Given the description of an element on the screen output the (x, y) to click on. 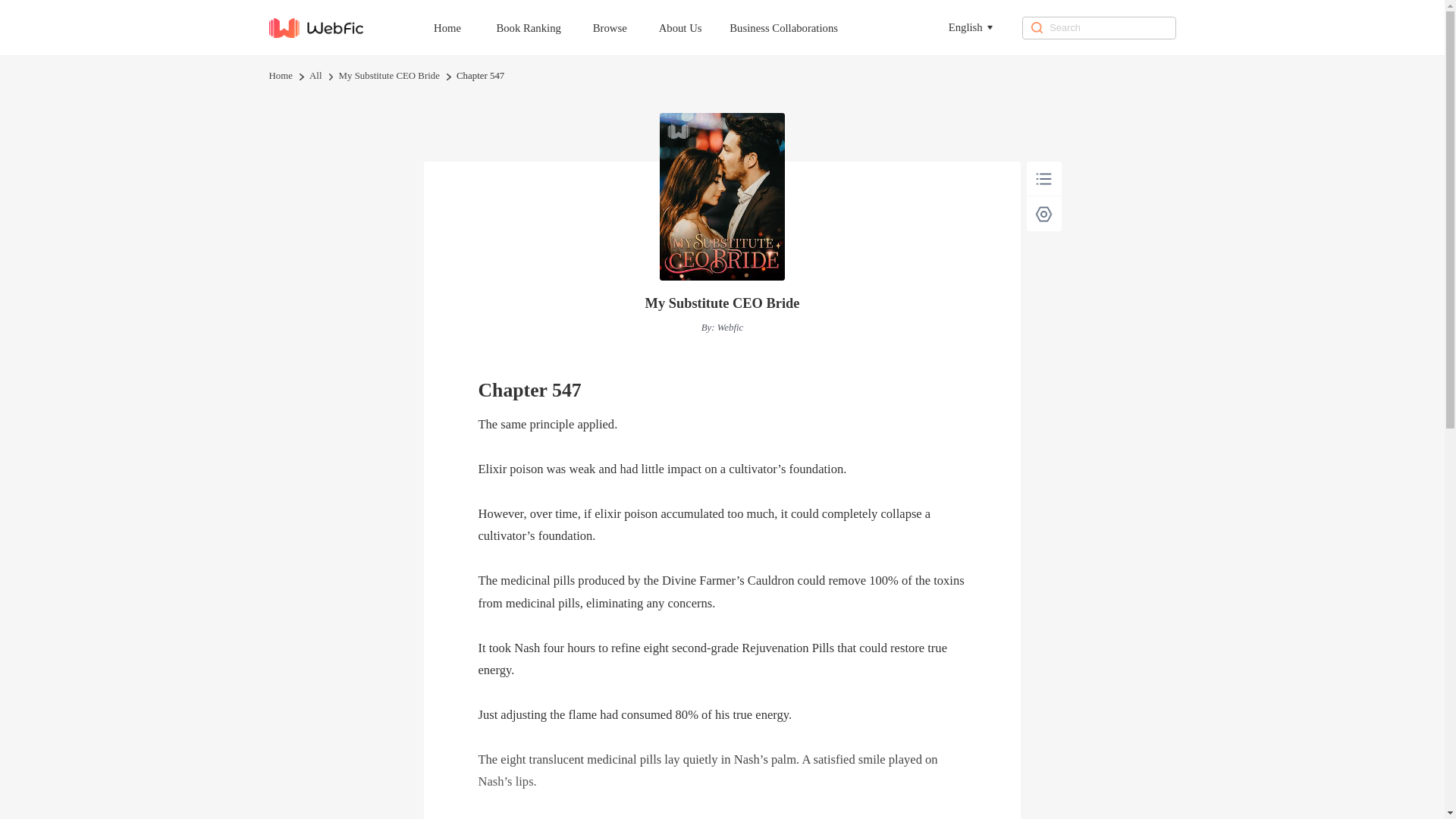
About Us (694, 27)
Browse (624, 27)
Home (461, 27)
Book Ranking (542, 27)
Home (279, 76)
My Substitute CEO Bride (722, 303)
My Substitute CEO Bride (389, 76)
Business Collaborations (797, 27)
